Given the description of an element on the screen output the (x, y) to click on. 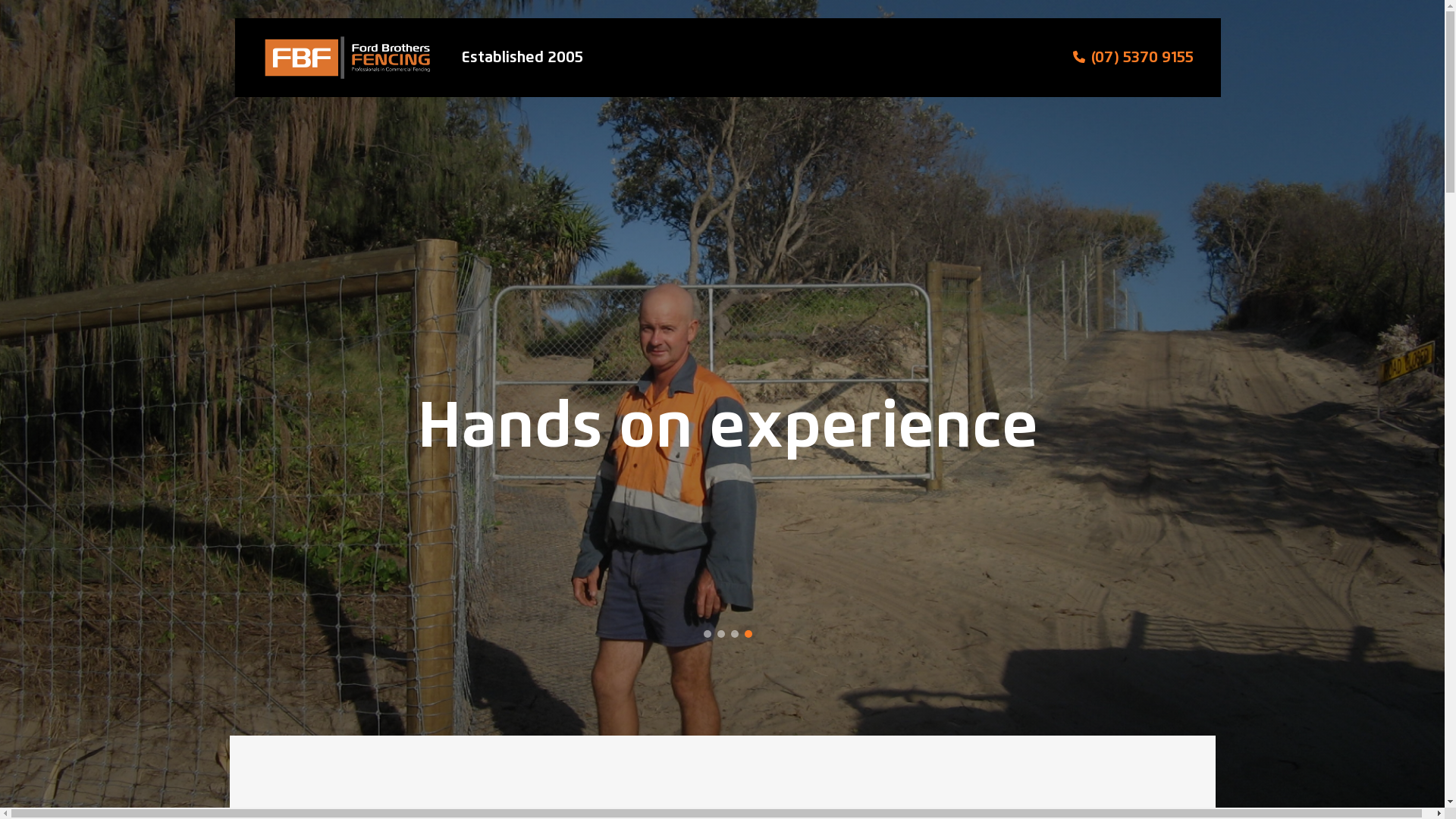
(07) 5370 9155 Element type: text (1142, 57)
